Given the description of an element on the screen output the (x, y) to click on. 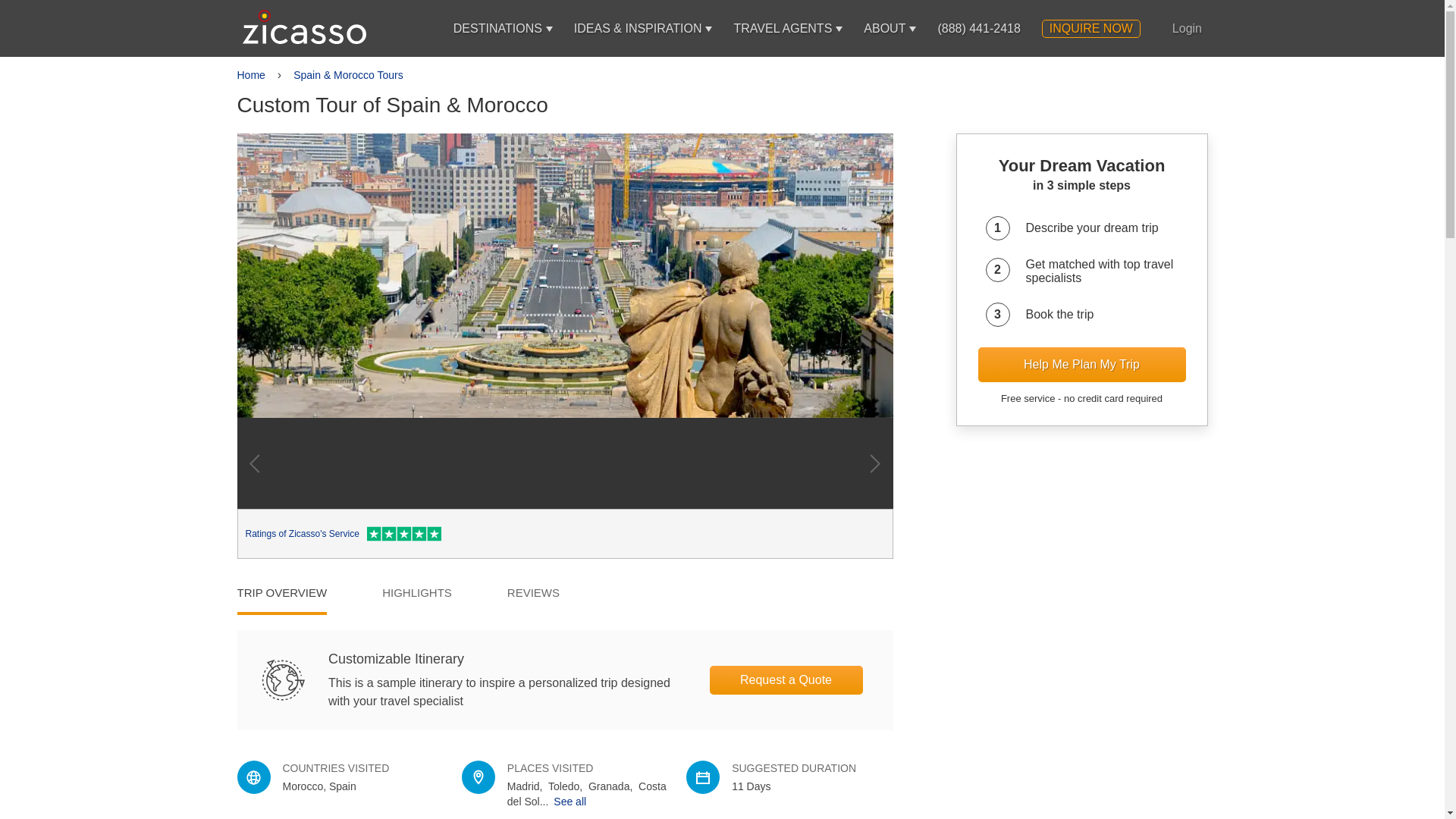
INQUIRE NOW (1091, 28)
Login (1187, 28)
Zicasso Logo (304, 26)
TRAVEL AGENTS (782, 28)
